Given the description of an element on the screen output the (x, y) to click on. 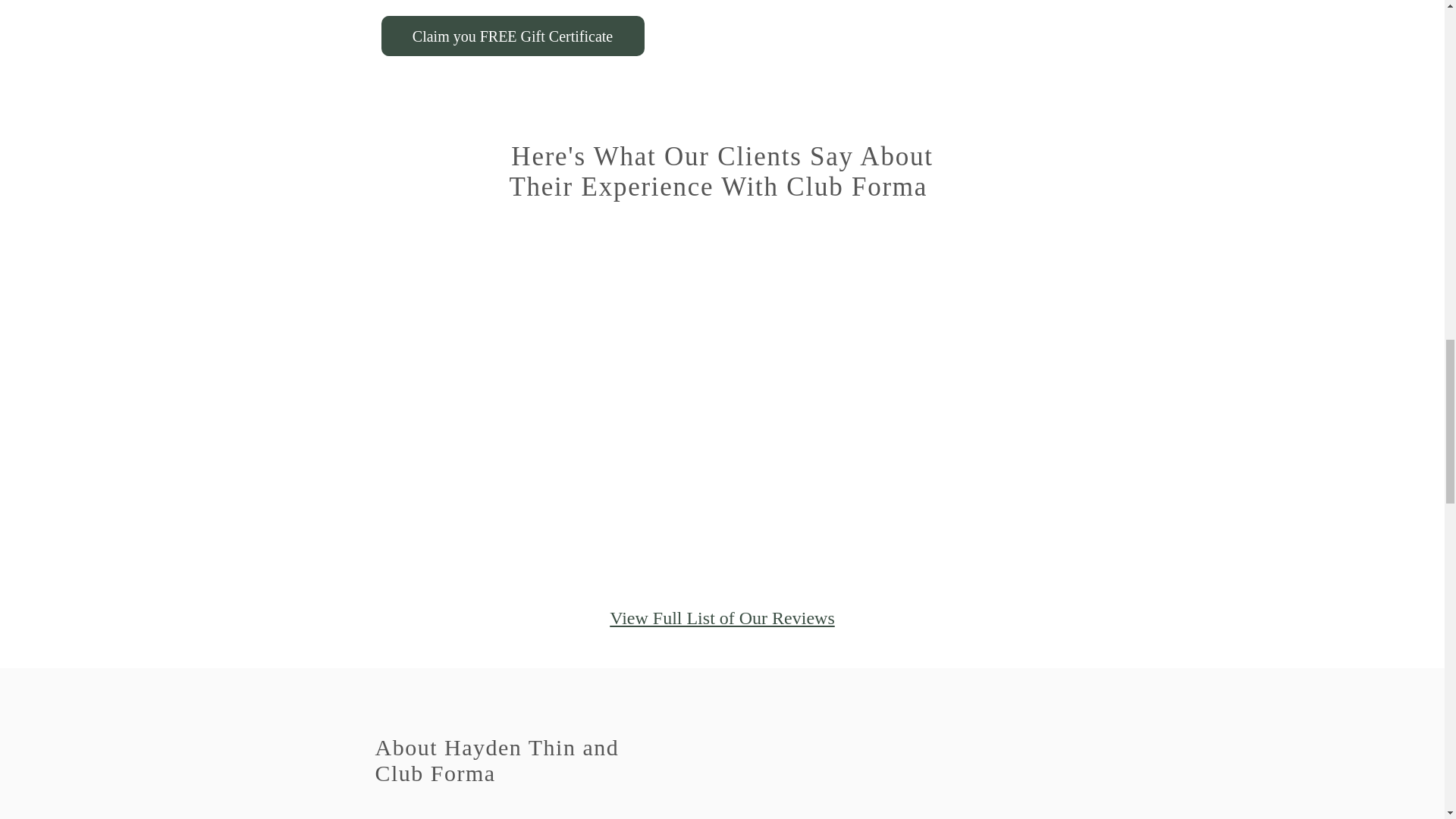
View Full List of Our Reviews (722, 618)
Claim you FREE Gift Certificate (511, 35)
